Given the description of an element on the screen output the (x, y) to click on. 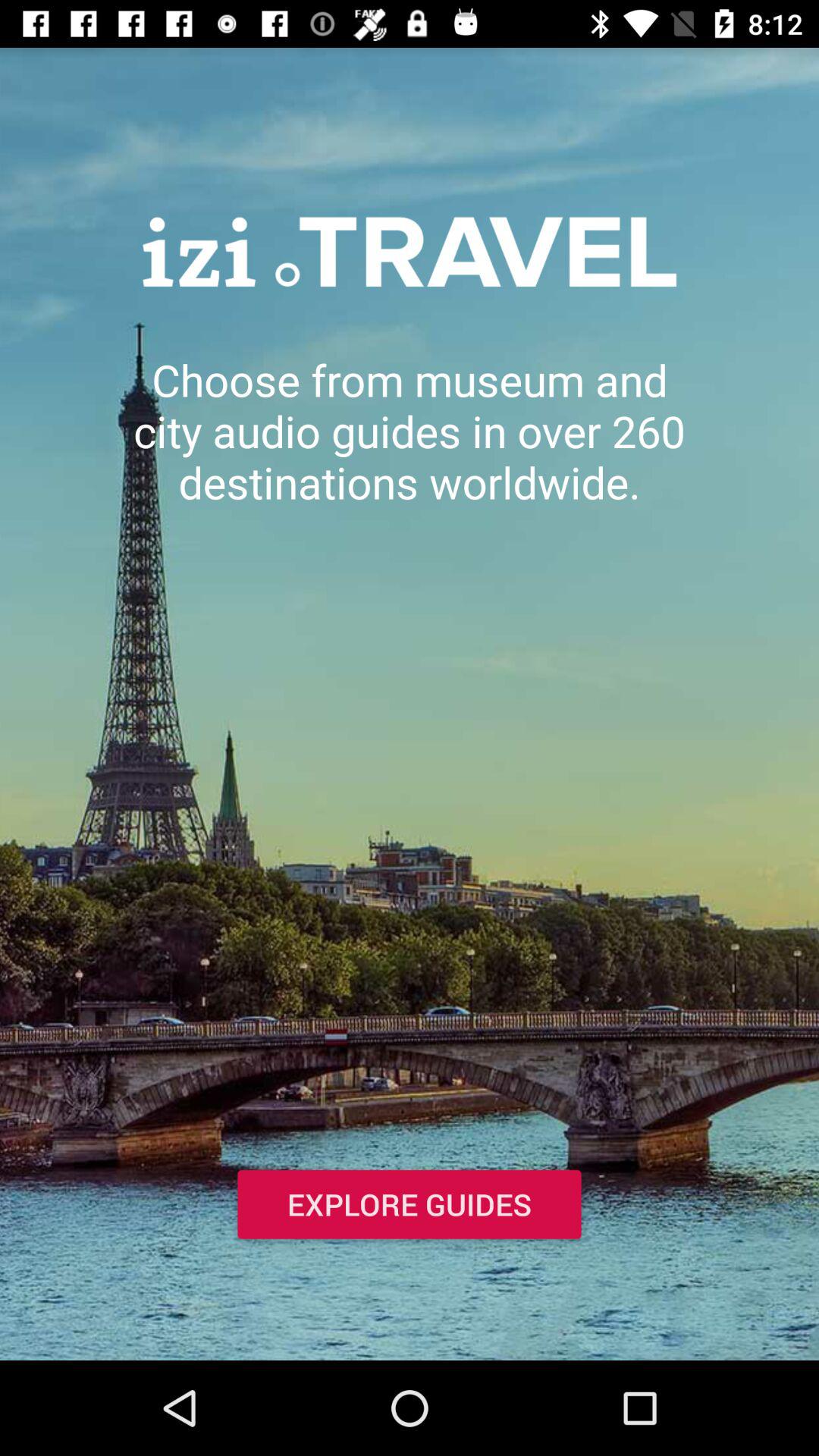
open the item below choose from museum icon (409, 1206)
